Given the description of an element on the screen output the (x, y) to click on. 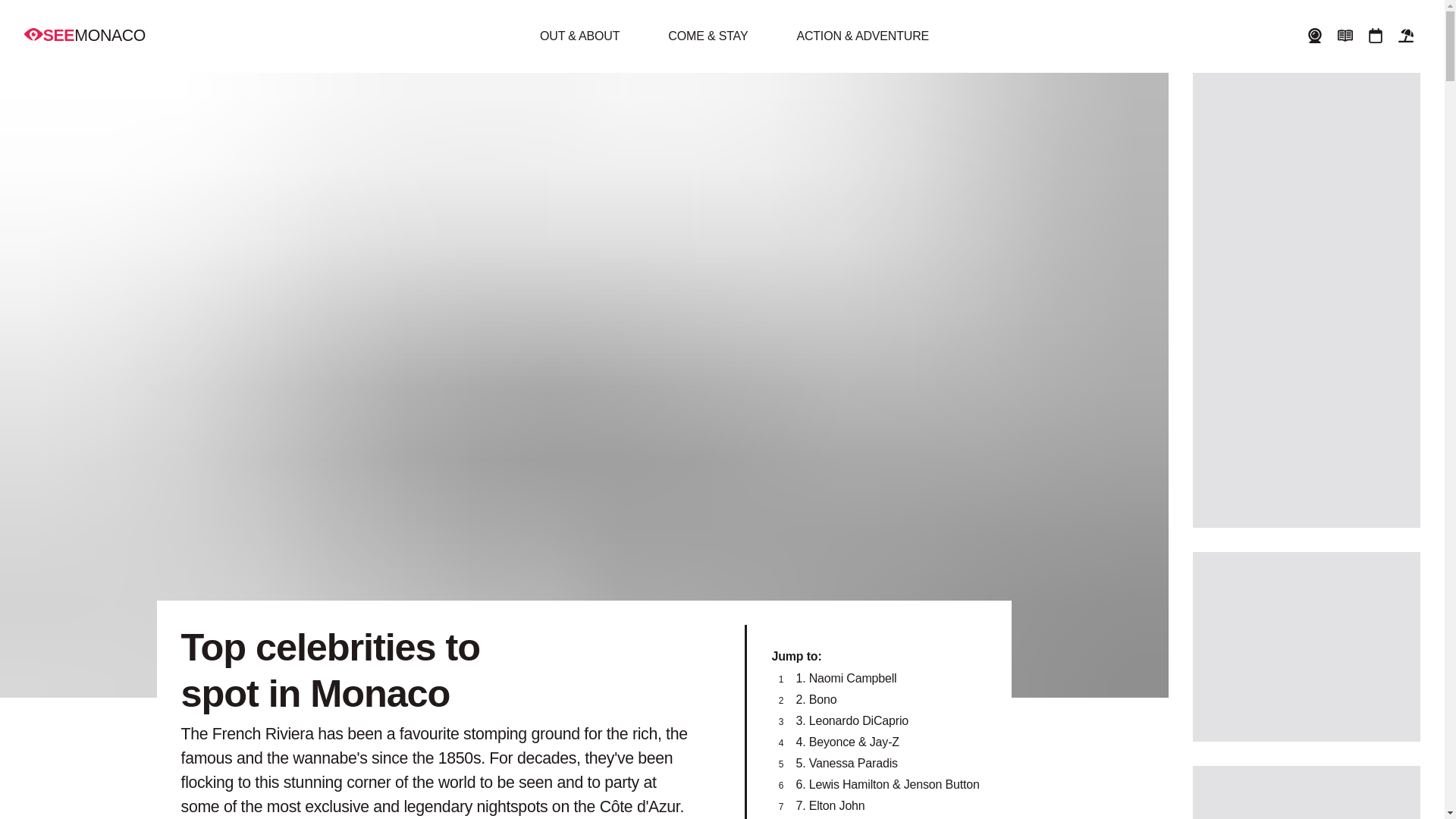
Events (1375, 36)
News (1345, 36)
Go to home page (84, 35)
Beaches (1406, 36)
SEEMONACO (84, 35)
Webcams (1314, 36)
